Given the description of an element on the screen output the (x, y) to click on. 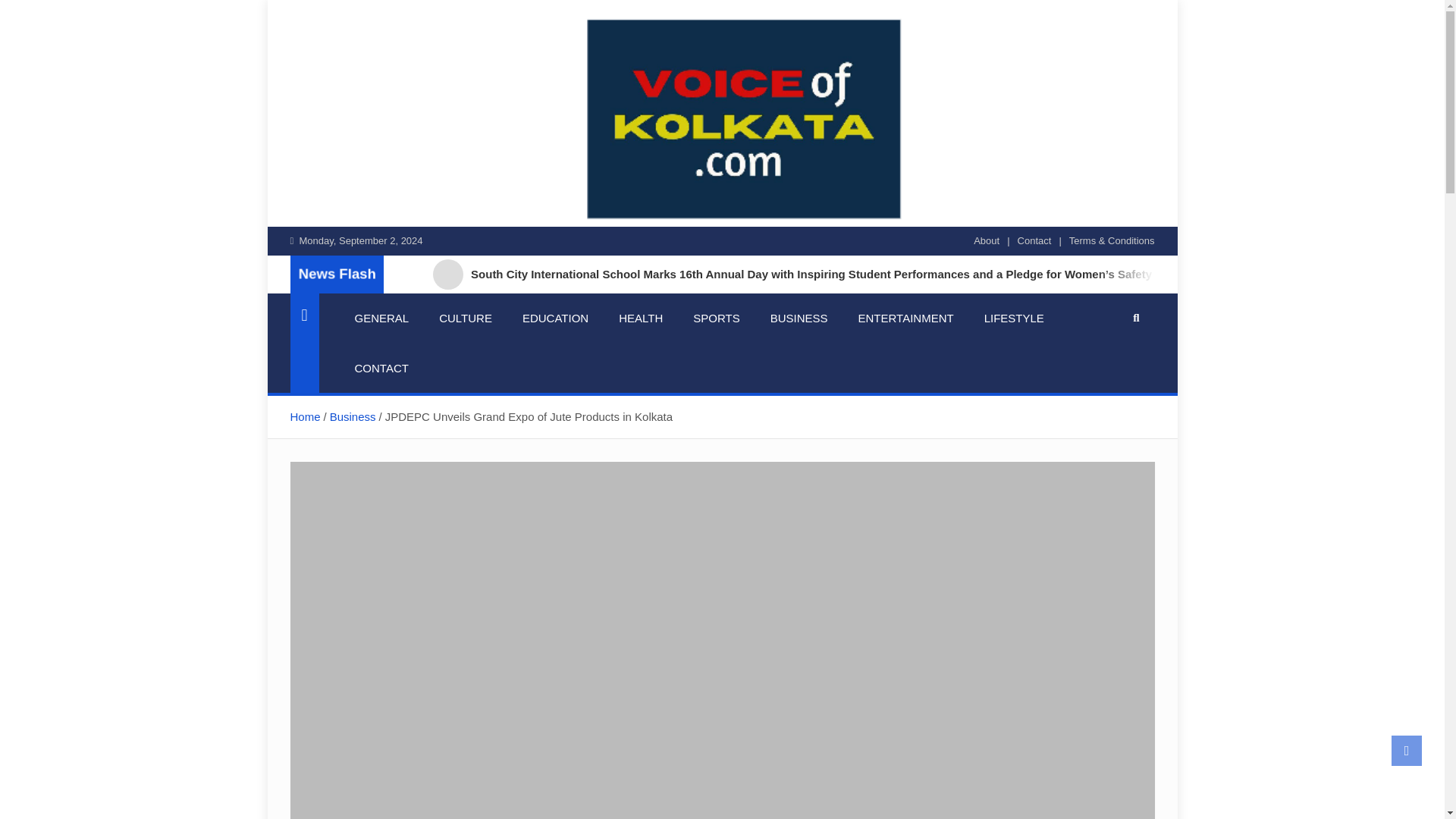
About (986, 240)
Contact (1034, 240)
SPORTS (716, 318)
Business (352, 416)
GENERAL (382, 318)
ENTERTAINMENT (906, 318)
EDUCATION (555, 318)
Home (304, 416)
LIFESTYLE (1014, 318)
HEALTH (641, 318)
